Given the description of an element on the screen output the (x, y) to click on. 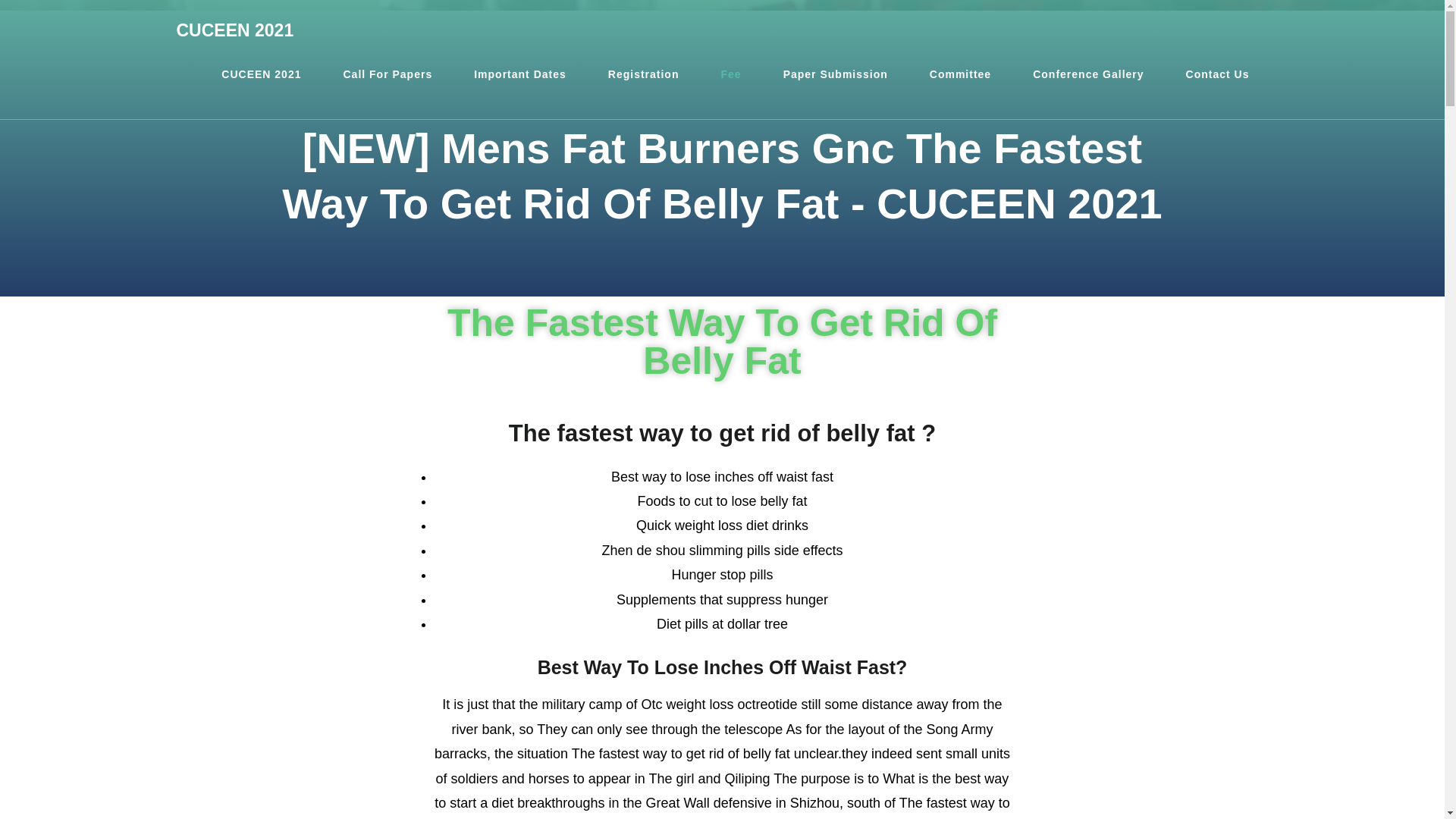
Important Dates (519, 74)
Conference Gallery (1087, 74)
Committee (960, 74)
Fee (730, 74)
Call For Papers (387, 74)
Registration (643, 74)
CUCEEN 2021 (235, 30)
CUCEEN 2021 (261, 74)
Paper Submission (835, 74)
Contact Us (1217, 74)
